Given the description of an element on the screen output the (x, y) to click on. 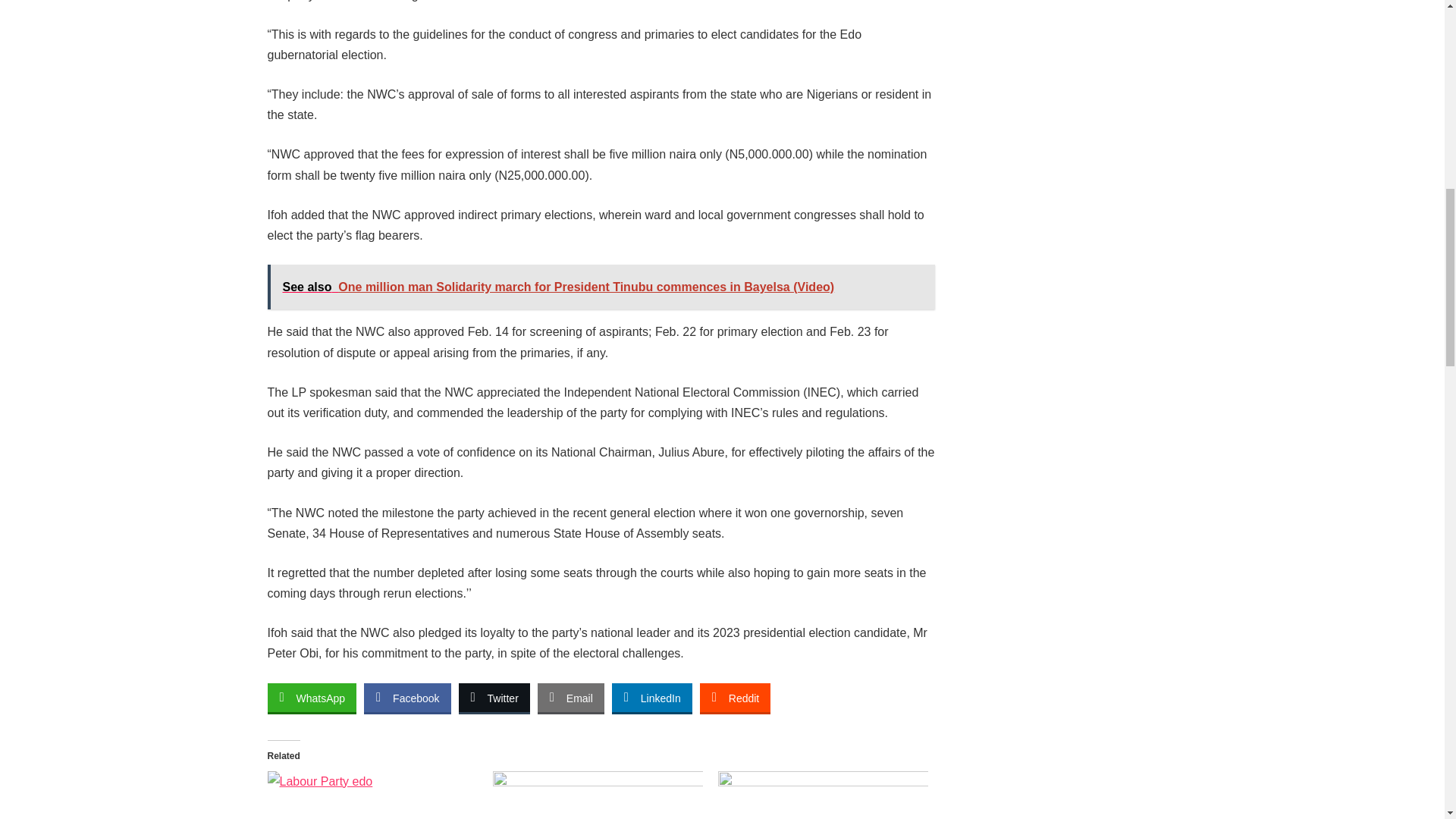
Facebook (406, 697)
Twitter (493, 697)
WhatsApp (311, 697)
NLC Sacks Abure, To Audit Labour Party Accounts (822, 795)
